Given the description of an element on the screen output the (x, y) to click on. 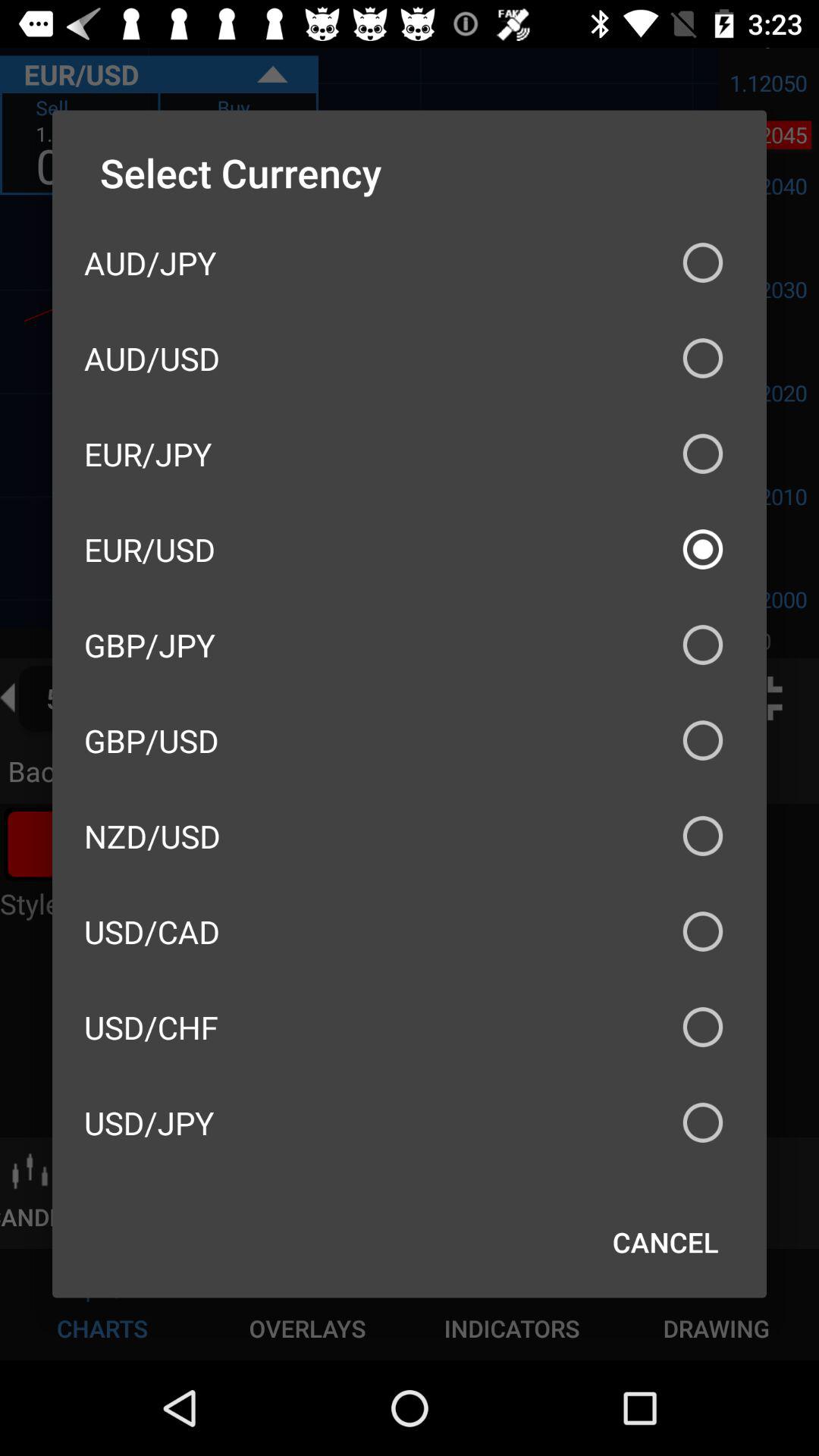
press icon at the bottom right corner (665, 1241)
